Given the description of an element on the screen output the (x, y) to click on. 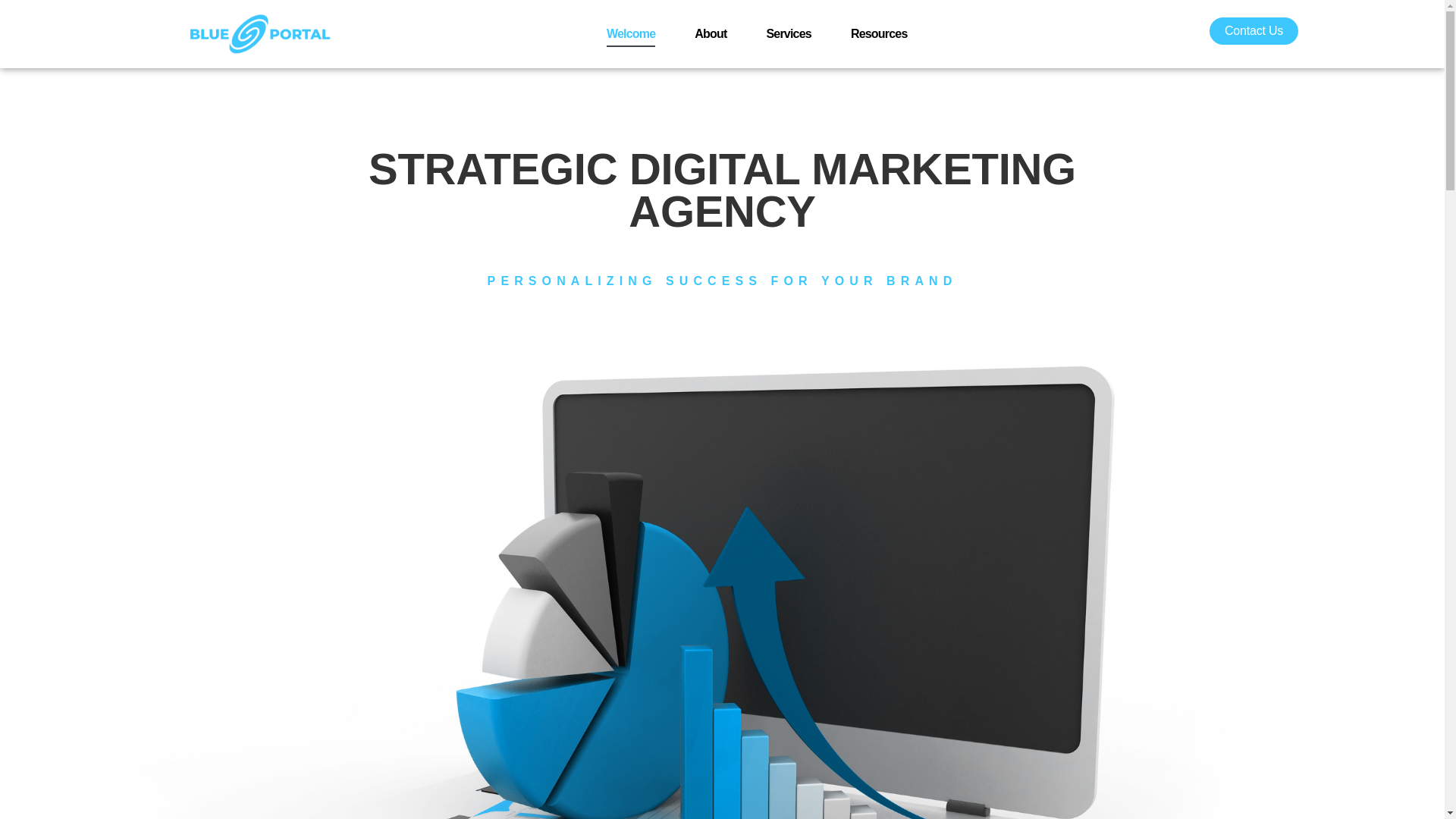
Resources (878, 33)
About (710, 33)
Welcome (631, 33)
Contact Us (1253, 30)
Services (787, 33)
